Given the description of an element on the screen output the (x, y) to click on. 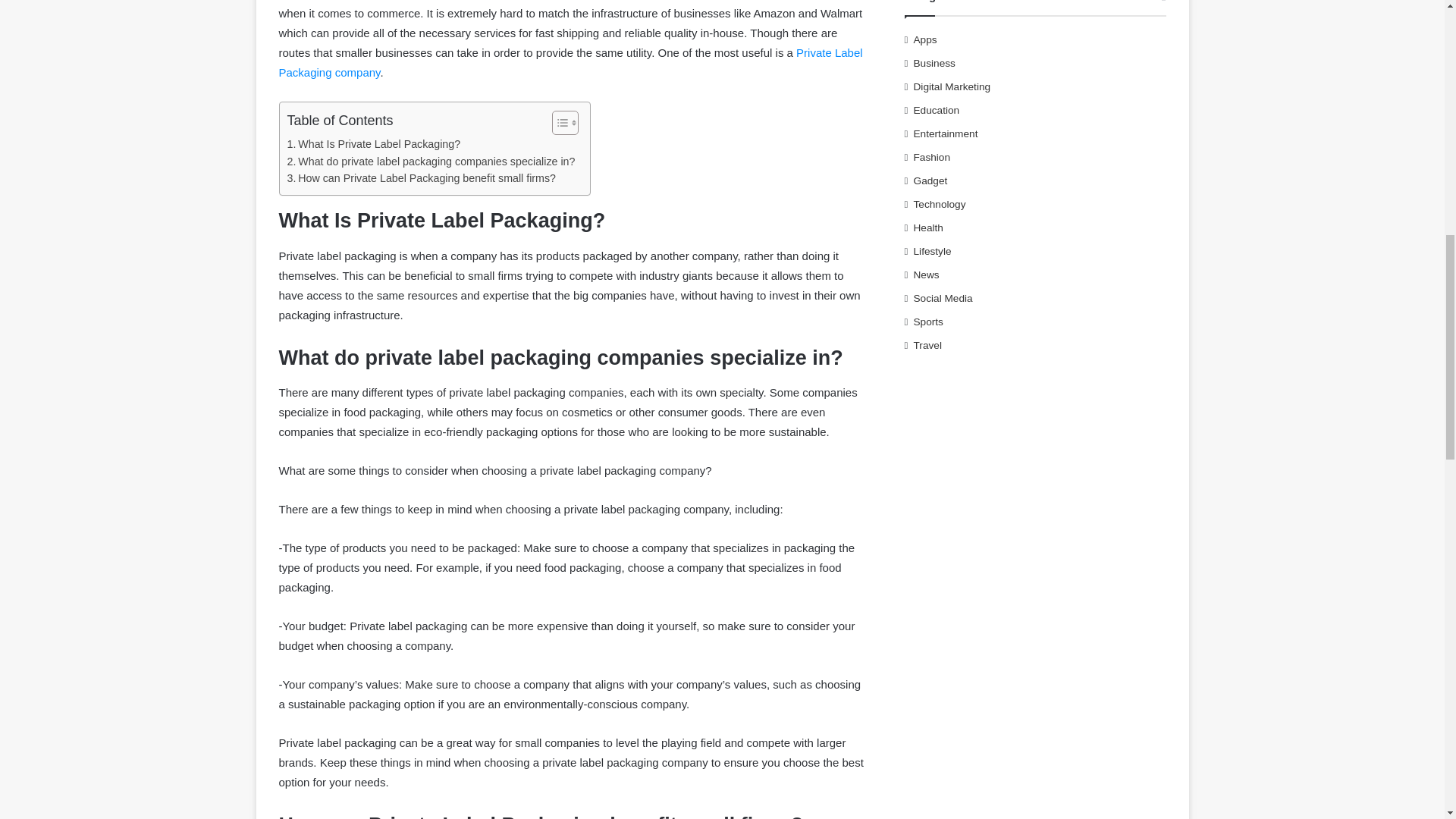
What do private label packaging companies specialize in? (430, 161)
How can Private Label Packaging benefit small firms? (421, 178)
Private Label Packaging company (571, 61)
How can Private Label Packaging benefit small firms? (421, 178)
What Is Private Label Packaging? (373, 144)
What do private label packaging companies specialize in? (430, 161)
What Is Private Label Packaging? (373, 144)
